Given the description of an element on the screen output the (x, y) to click on. 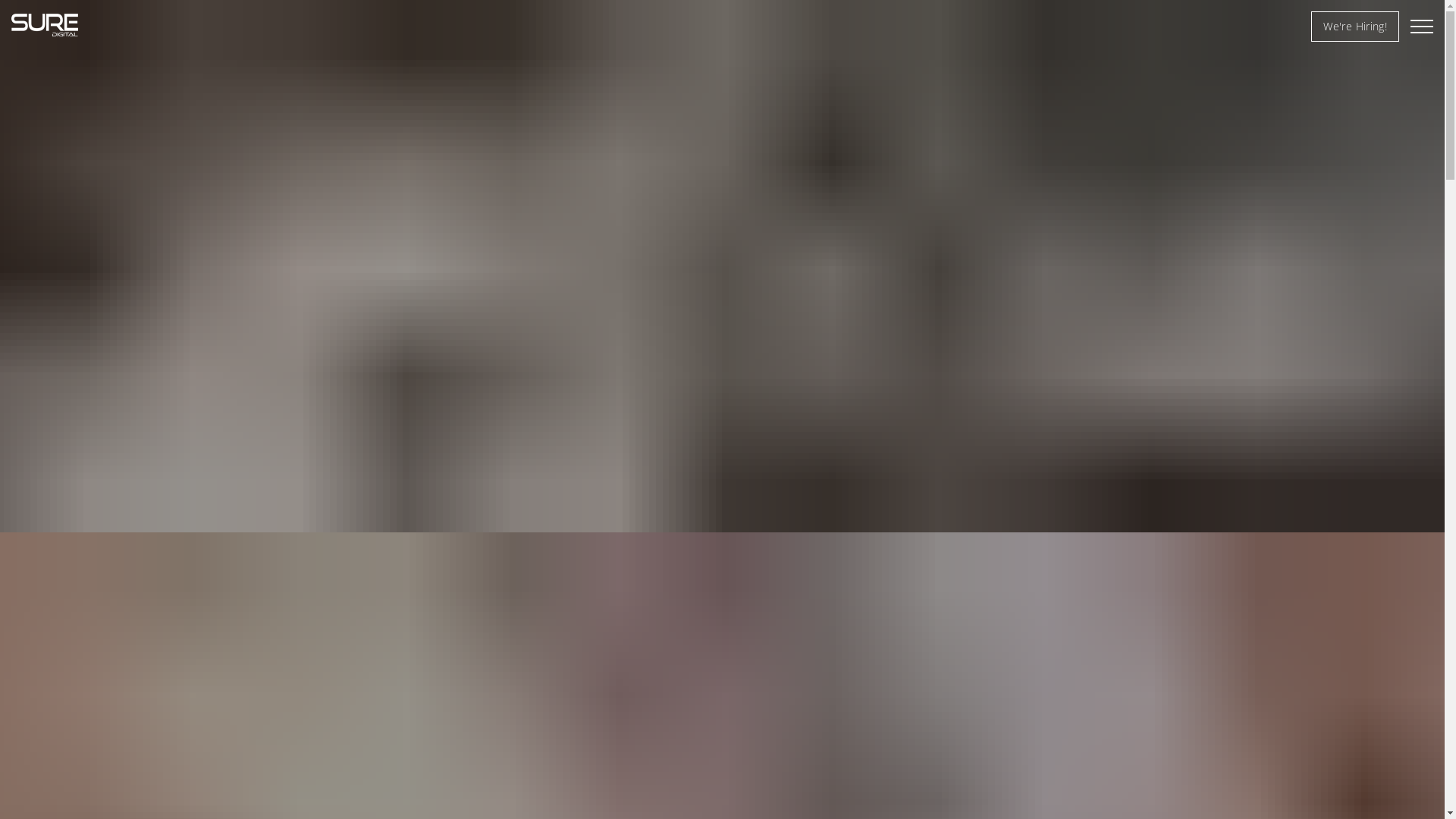
We're Hiring! Element type: text (1355, 26)
Sure Digital Element type: text (44, 24)
